Given the description of an element on the screen output the (x, y) to click on. 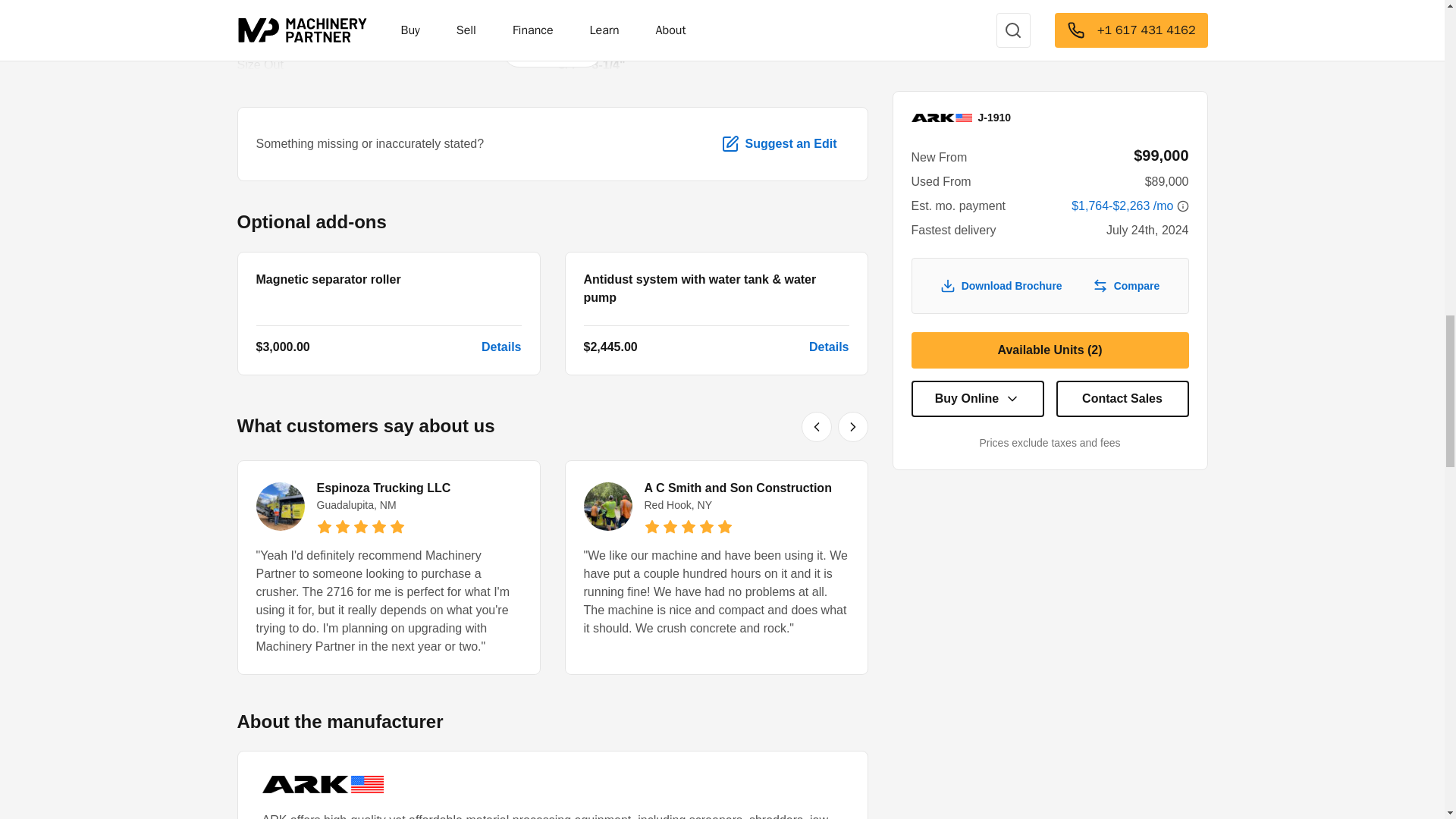
Show More (552, 51)
Suggest an Edit (778, 144)
